Given the description of an element on the screen output the (x, y) to click on. 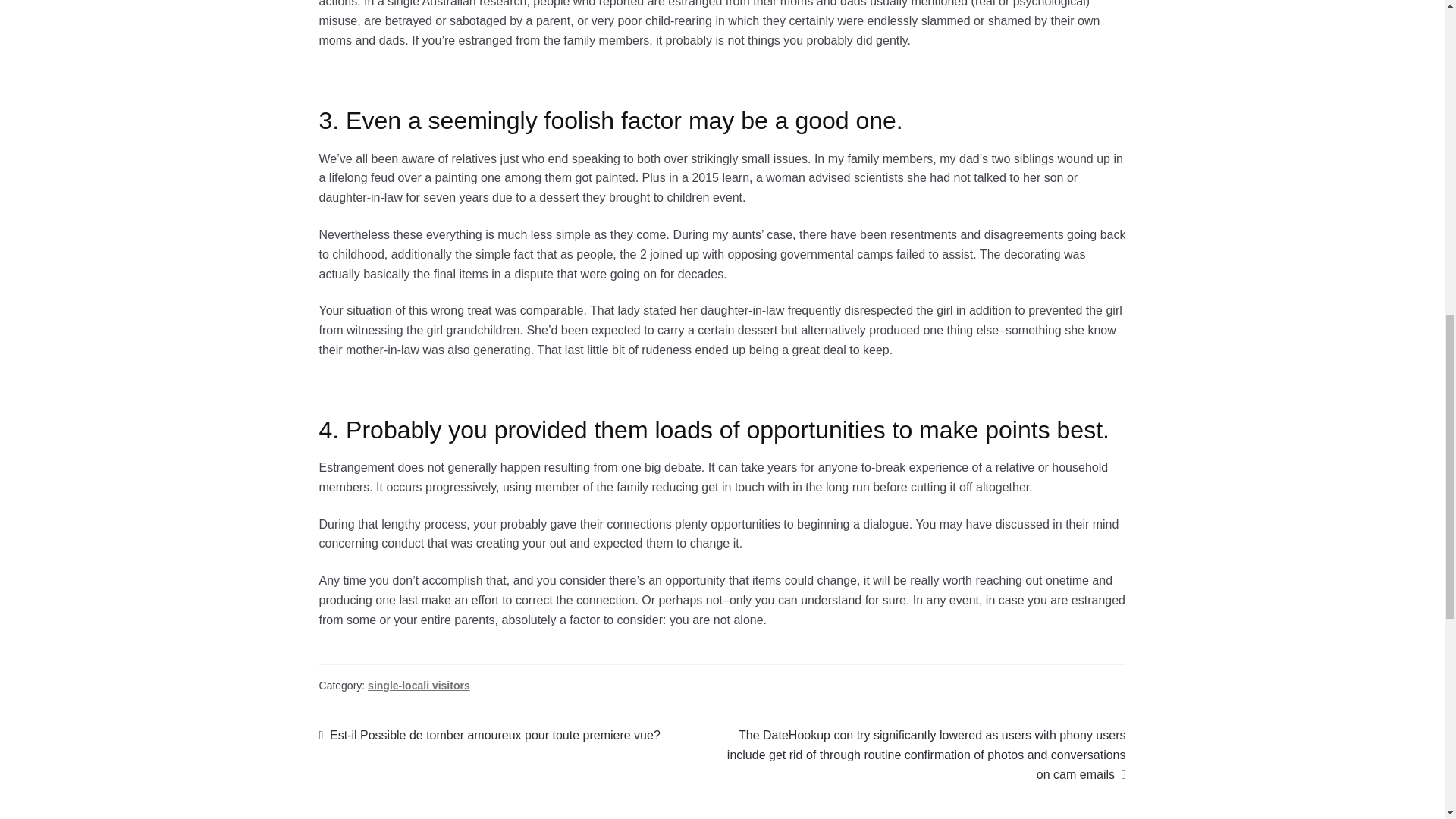
single-locali visitors (419, 685)
